Given the description of an element on the screen output the (x, y) to click on. 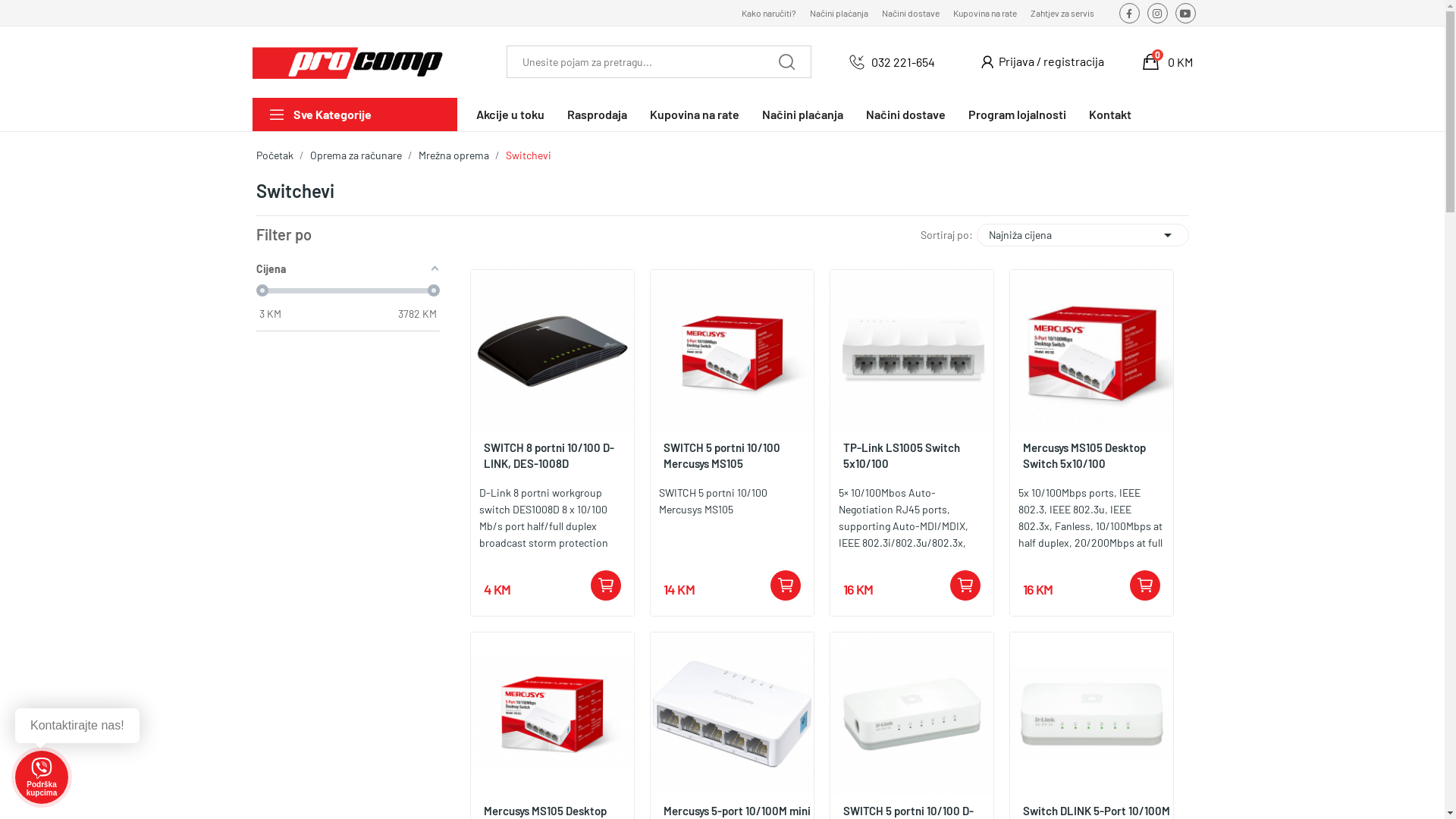
Kontakt Element type: text (1109, 114)
Akcije u toku Element type: text (510, 114)
SWITCH 5 portni 10/100 Mercusys MS105 Element type: text (731, 455)
Program lojalnosti Element type: text (1016, 114)
Dodaj u korpu Element type: hover (965, 585)
032 221-654 Element type: text (902, 62)
youtube Element type: hover (1185, 13)
Prijava / registracija Element type: text (1048, 62)
Dodaj u korpu Element type: hover (785, 585)
Zahtjev za servis Element type: text (1062, 12)
0 KM
0 Element type: text (1167, 61)
SWITCH 8 portni 10/100 D-LINK, DES-1008D Element type: text (551, 455)
Rasprodaja Element type: text (597, 114)
facebook Element type: hover (1129, 13)
Kupovina na rate Element type: text (693, 114)
Dodaj u korpu Element type: hover (605, 585)
Mercusys MS105 Desktop Switch 5x10/100 Element type: text (1091, 455)
Kupovina na rate Element type: text (984, 12)
TP-Link LS1005 Switch 5x10/100 Element type: text (911, 455)
instagram Element type: hover (1157, 13)
Dodaj u korpu Element type: hover (1144, 585)
